Given the description of an element on the screen output the (x, y) to click on. 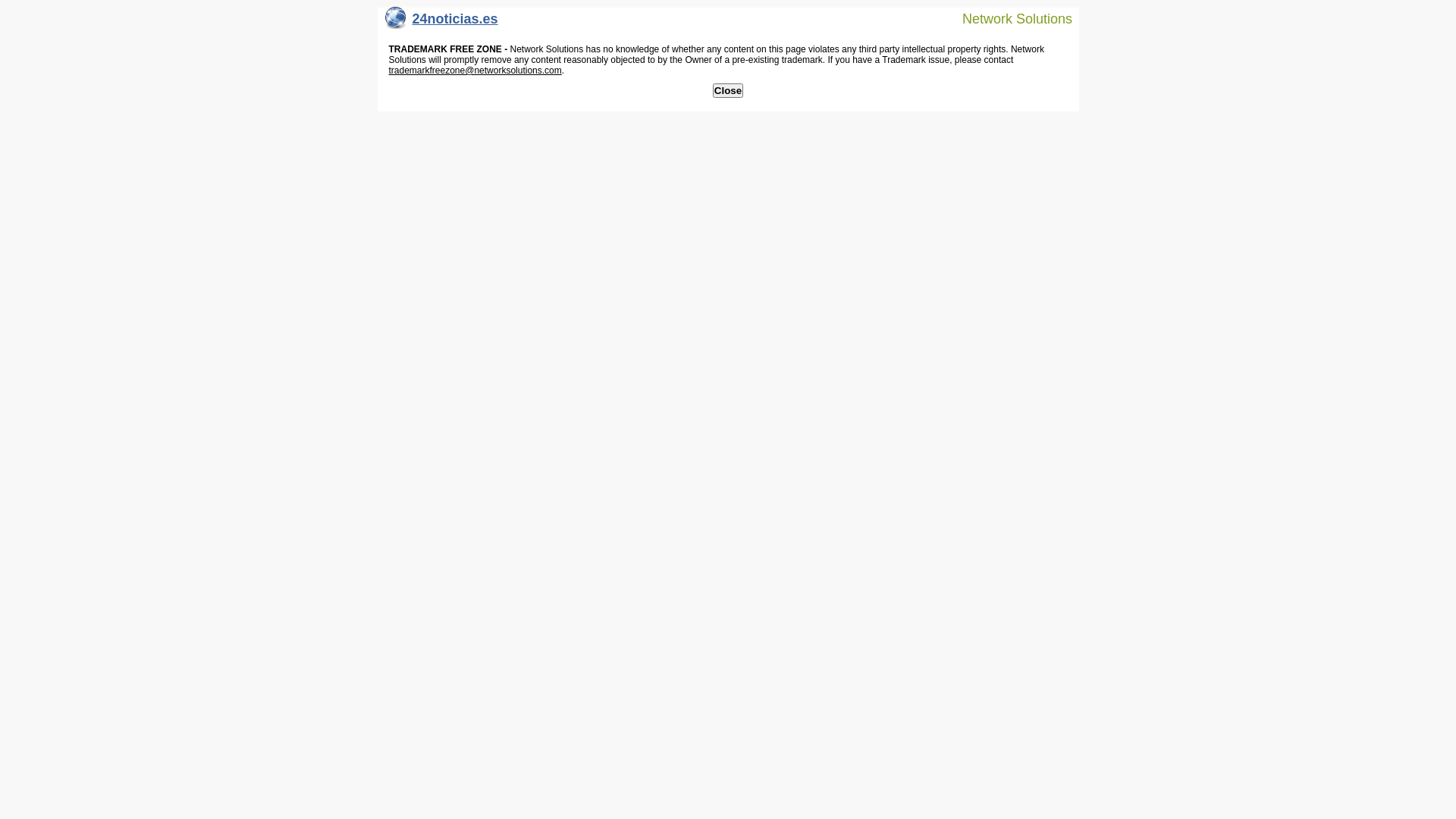
trademarkfreezone@networksolutions.com Element type: text (474, 70)
24noticias.es Element type: text (441, 21)
Close Element type: text (727, 90)
Network Solutions Element type: text (1007, 17)
